Given the description of an element on the screen output the (x, y) to click on. 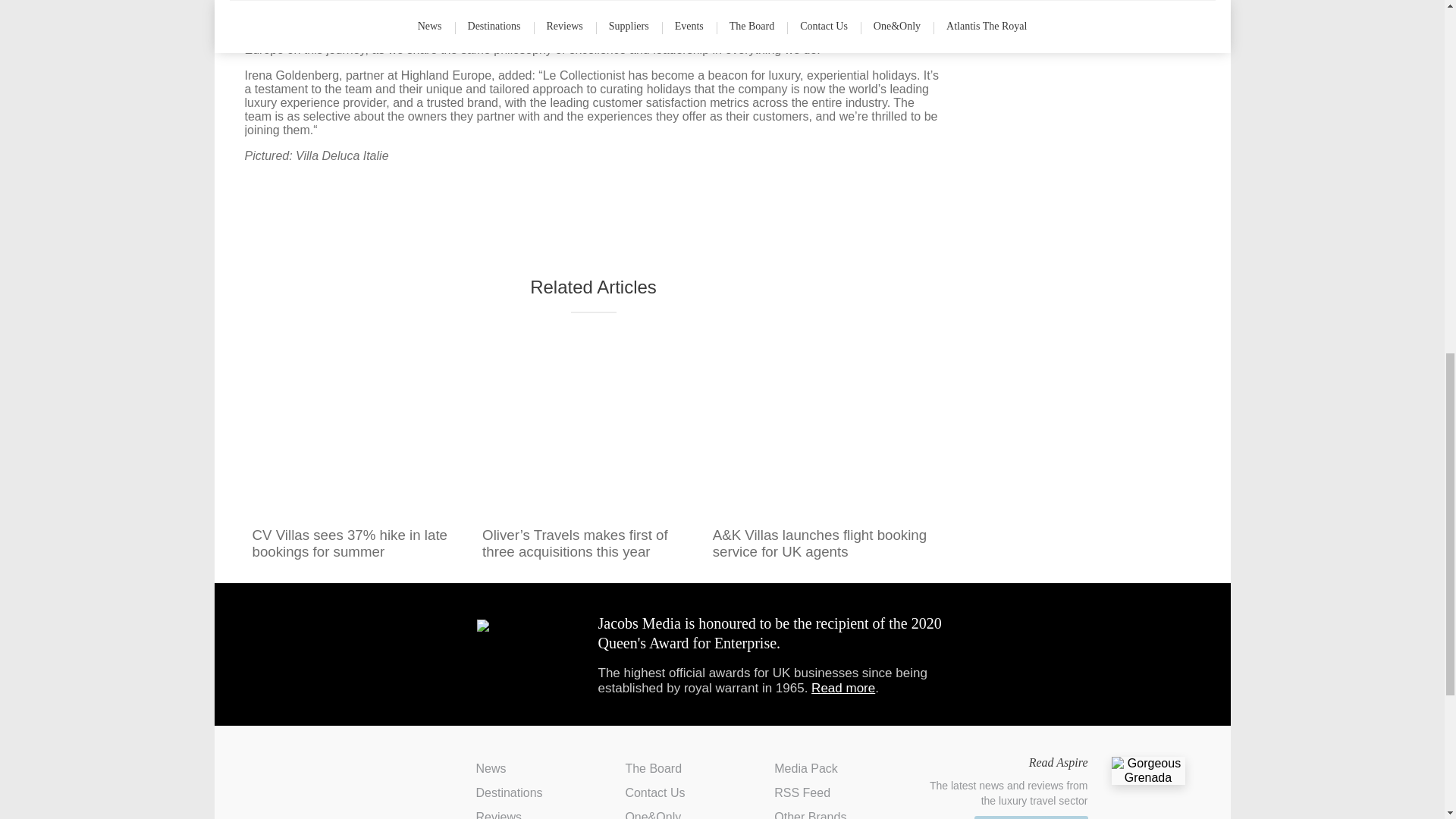
Aspire - The Luxury Travel Club from Travel Weekly (322, 780)
News (491, 768)
Read more (842, 687)
Destinations (509, 792)
Reviews (498, 814)
